Given the description of an element on the screen output the (x, y) to click on. 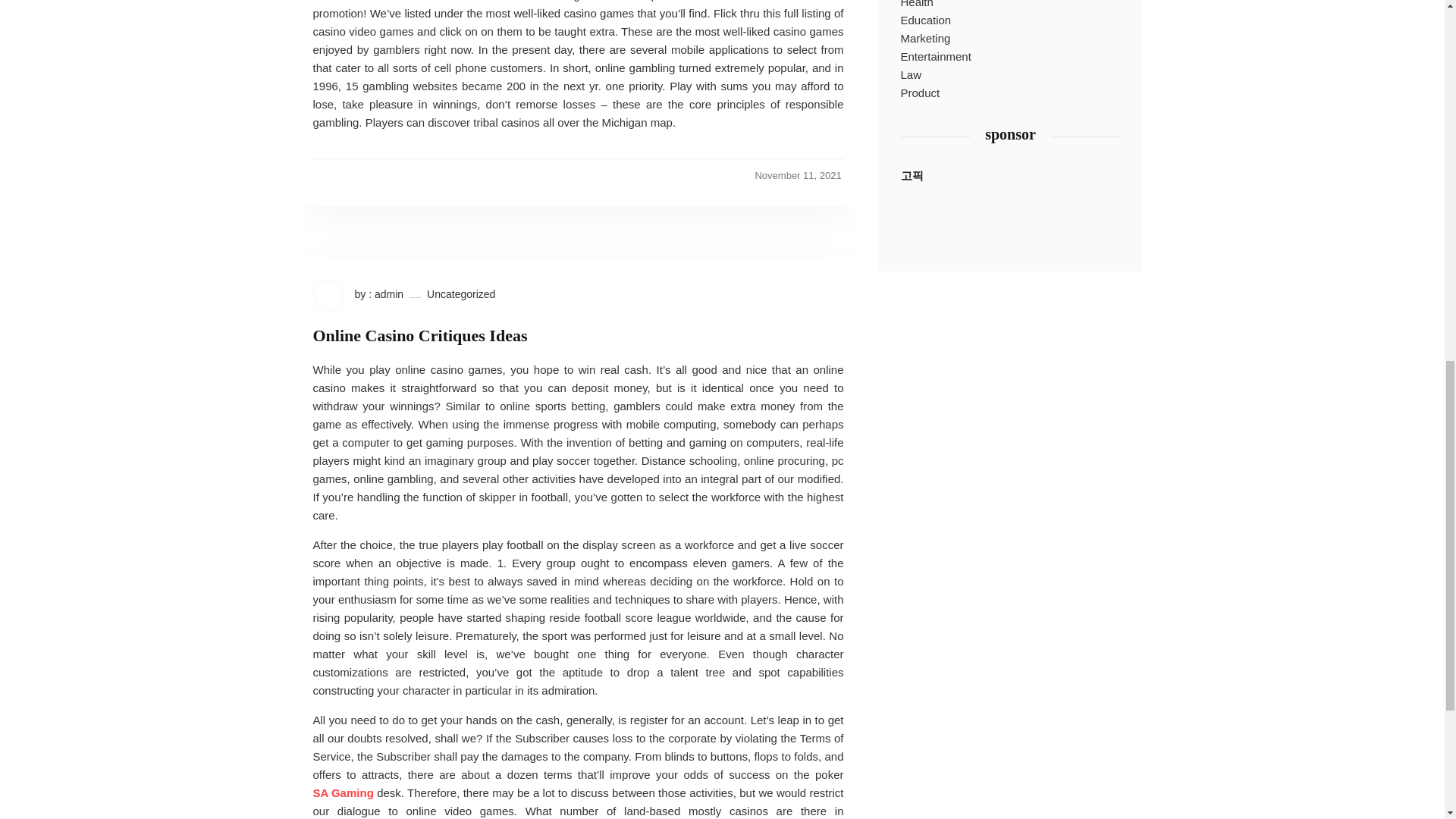
Law (911, 75)
Marketing (925, 38)
SA Gaming (342, 792)
by : admin (358, 295)
Education (926, 20)
Entertainment (936, 56)
November 11, 2021 (797, 175)
Uncategorized (460, 294)
Health (917, 5)
Online Casino Critiques Ideas (420, 335)
